Given the description of an element on the screen output the (x, y) to click on. 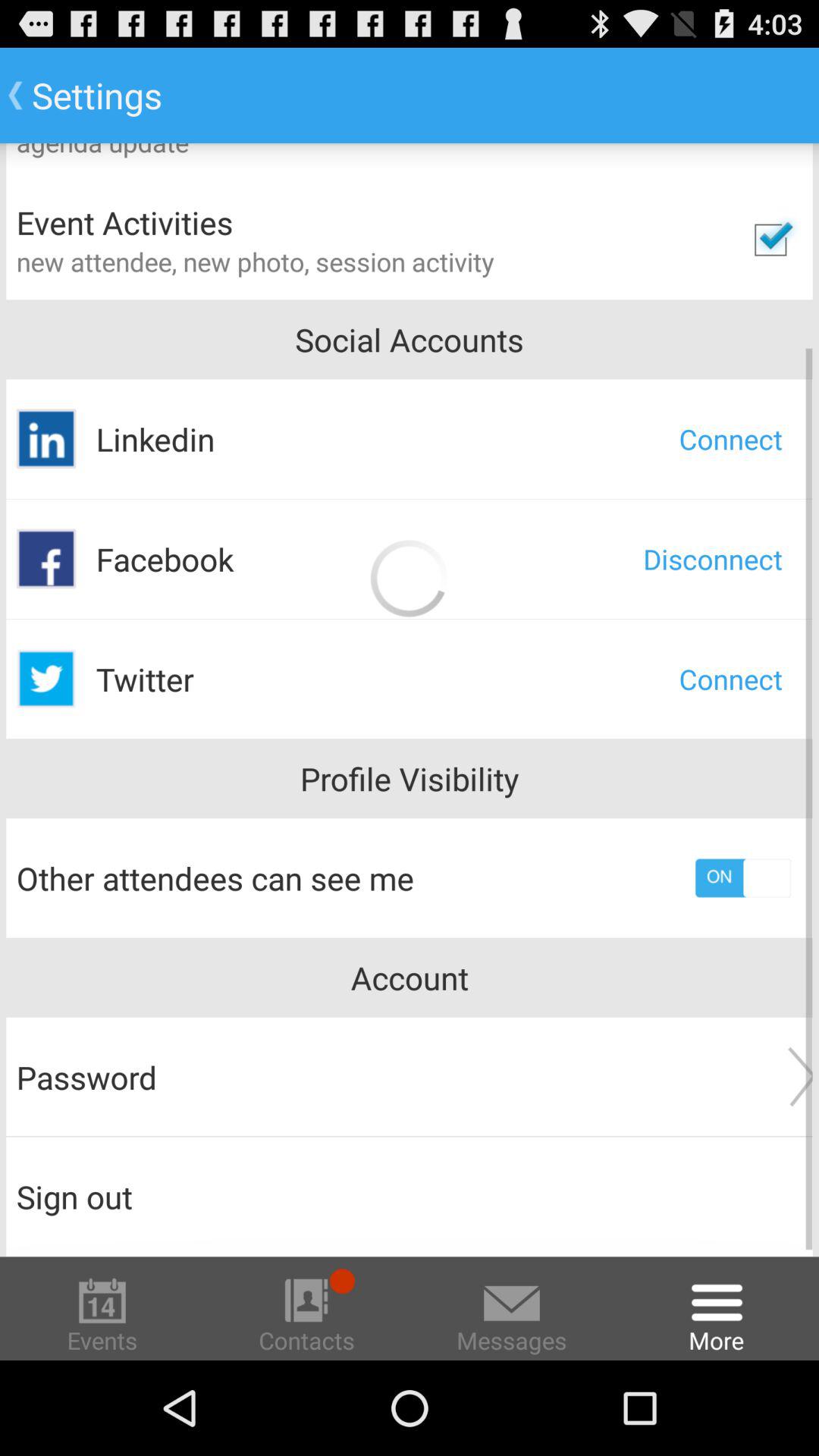
press the icon below profile visibility item (742, 877)
